Given the description of an element on the screen output the (x, y) to click on. 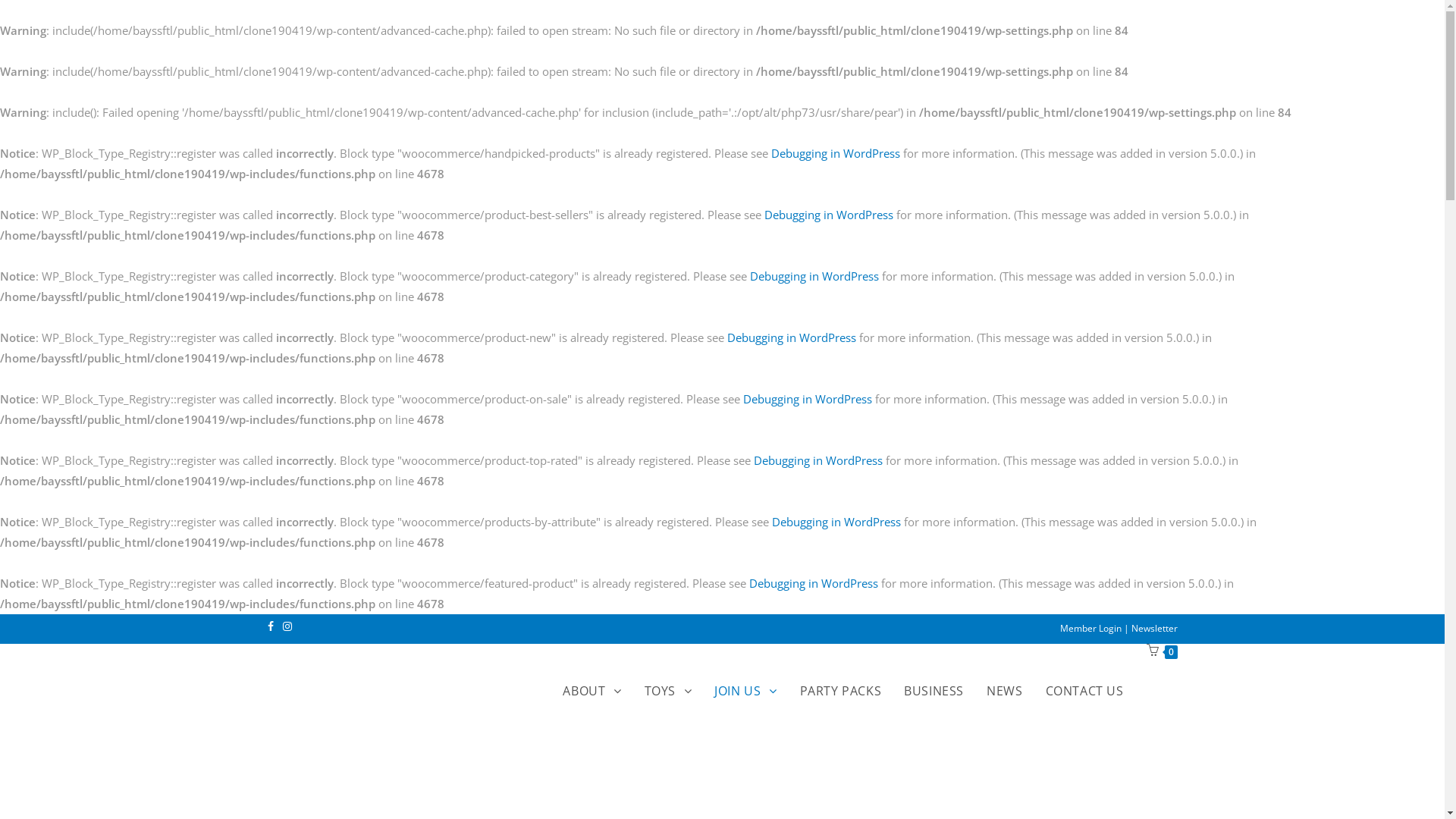
ABOUT Element type: text (591, 690)
BUSINESS Element type: text (933, 690)
Member Login Element type: text (1091, 627)
Debugging in WordPress Element type: text (813, 275)
Facebook Element type: hover (271, 626)
Debugging in WordPress Element type: text (813, 582)
Debugging in WordPress Element type: text (835, 152)
Debugging in WordPress Element type: text (828, 214)
NEWS Element type: text (1004, 690)
Debugging in WordPress Element type: text (791, 337)
Debugging in WordPress Element type: text (817, 459)
Debugging in WordPress Element type: text (835, 521)
0 Element type: text (1161, 650)
JOIN US Element type: text (744, 690)
TOYS Element type: text (668, 690)
Newsletter Element type: text (1154, 627)
CONTACT US Element type: text (1084, 690)
PARTY PACKS Element type: text (840, 690)
Instagram Element type: hover (286, 626)
Debugging in WordPress Element type: text (807, 398)
